Given the description of an element on the screen output the (x, y) to click on. 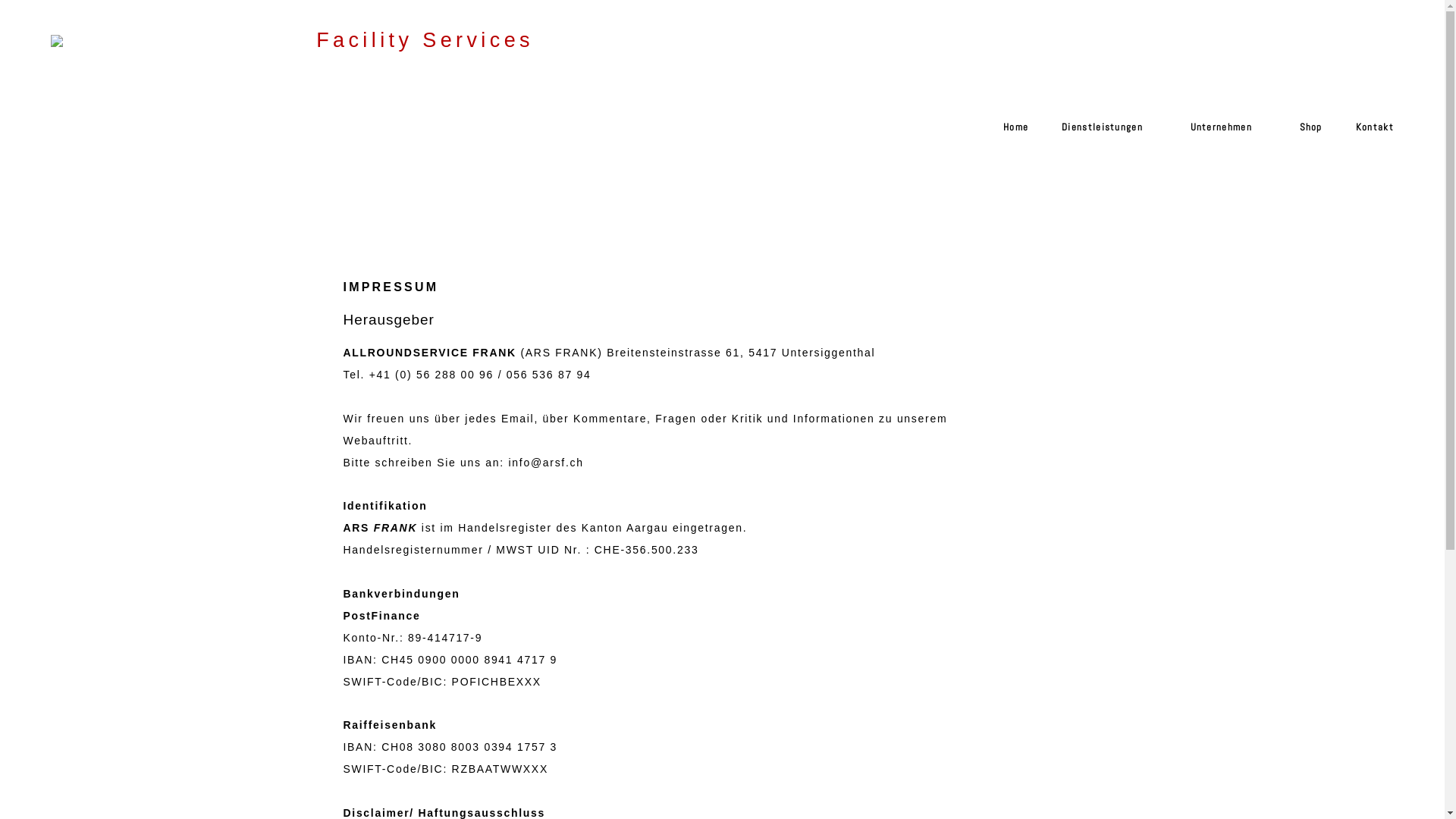
Home Element type: text (1007, 134)
Facility Services Element type: text (424, 43)
Shop Element type: text (1303, 134)
Kontakt Element type: text (1366, 134)
